Given the description of an element on the screen output the (x, y) to click on. 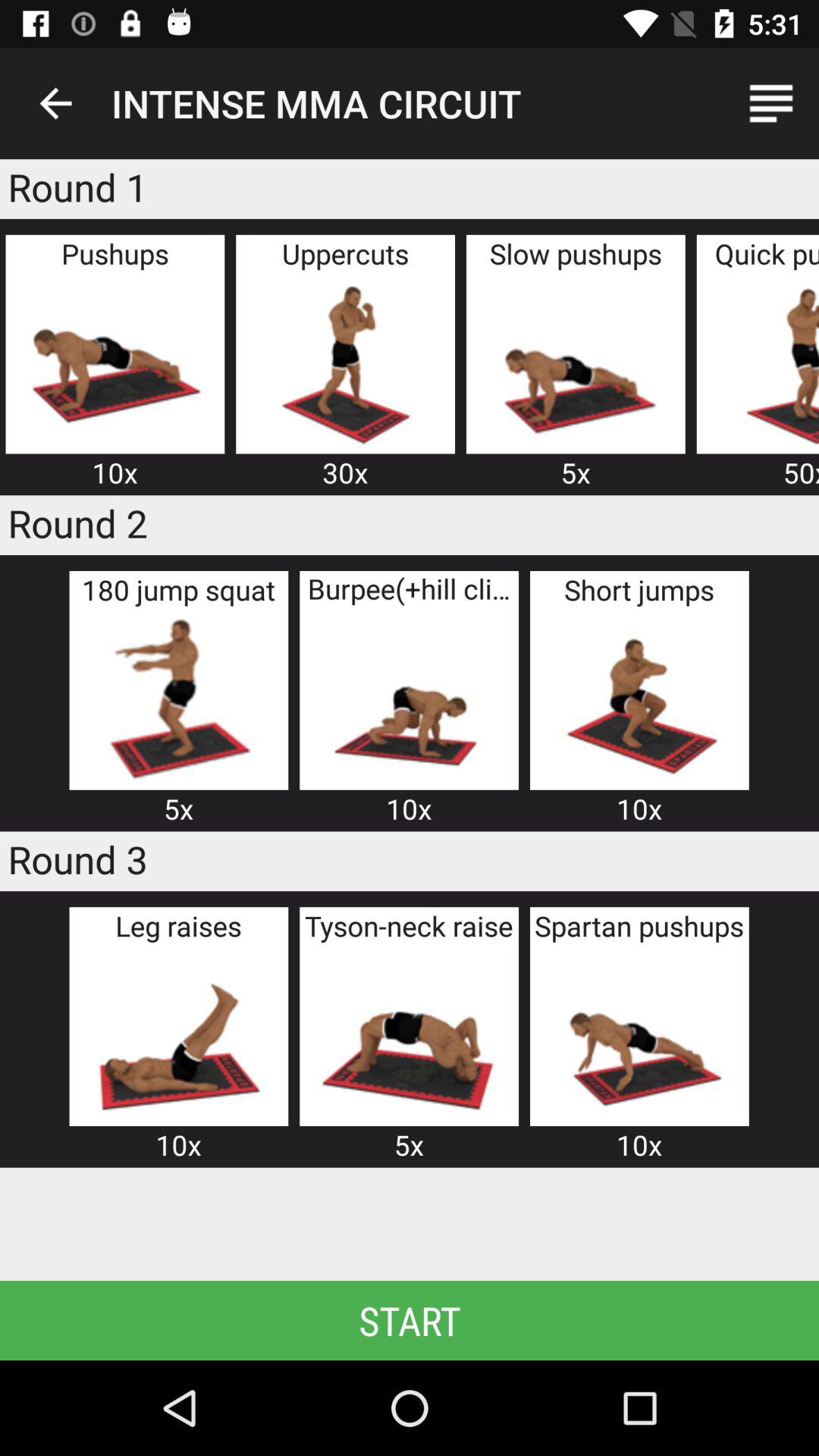
advertisement (344, 362)
